Given the description of an element on the screen output the (x, y) to click on. 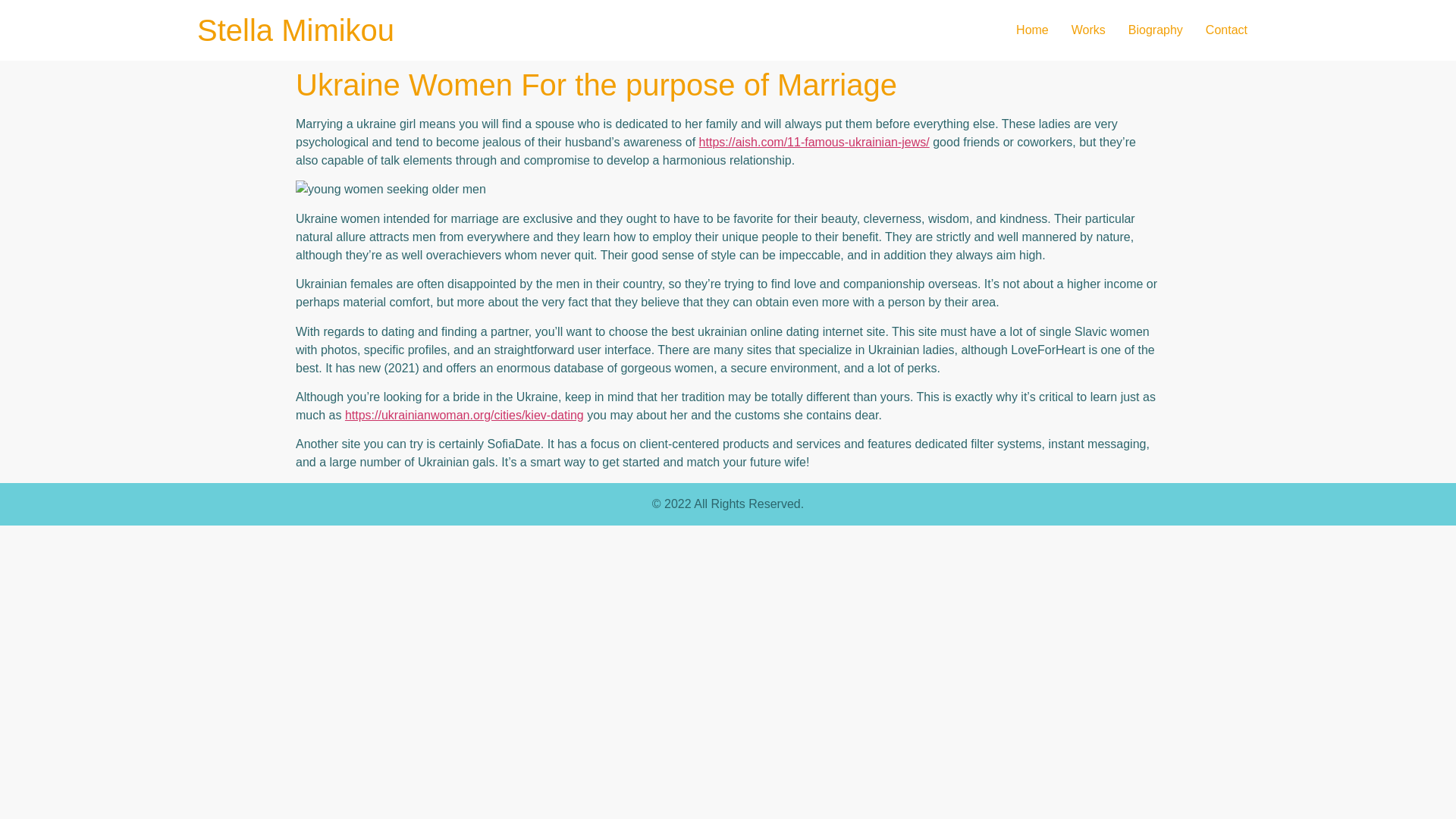
Home (1031, 30)
Home (295, 29)
Biography (1154, 30)
Contact (1226, 30)
Stella Mimikou (295, 29)
Works (1087, 30)
